Given the description of an element on the screen output the (x, y) to click on. 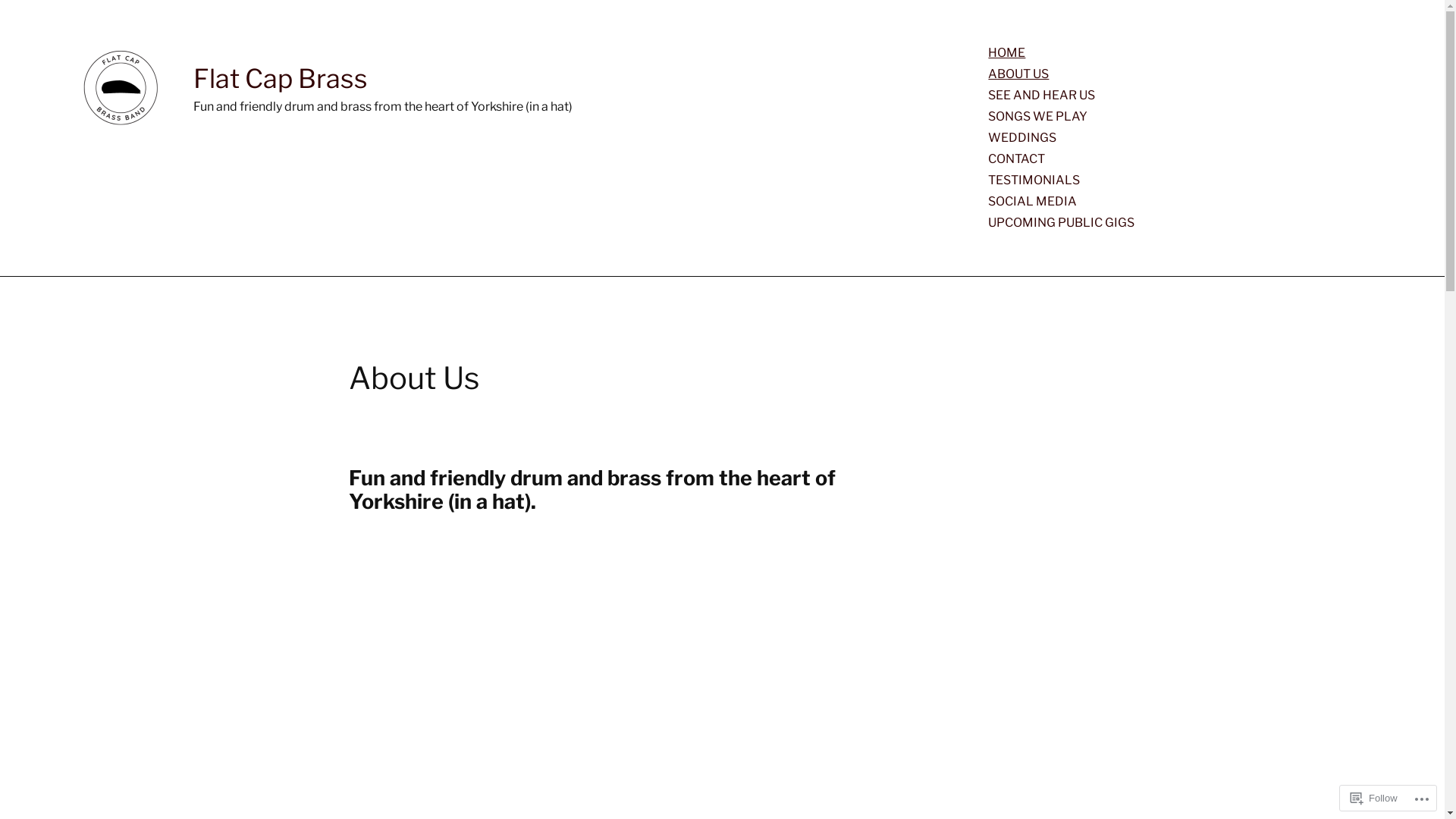
SOCIAL MEDIA Element type: text (1032, 201)
SEE AND HEAR US Element type: text (1041, 95)
SONGS WE PLAY Element type: text (1037, 116)
Flat Cap Brass Element type: text (280, 78)
ABOUT US Element type: text (1018, 74)
TESTIMONIALS Element type: text (1033, 180)
HOME Element type: text (1006, 52)
UPCOMING PUBLIC GIGS Element type: text (1061, 222)
Website Powered by WordPress.com Element type: text (384, 775)
WEDDINGS Element type: text (1022, 137)
Follow Element type: text (1373, 797)
CONTACT Element type: text (1016, 159)
